Given the description of an element on the screen output the (x, y) to click on. 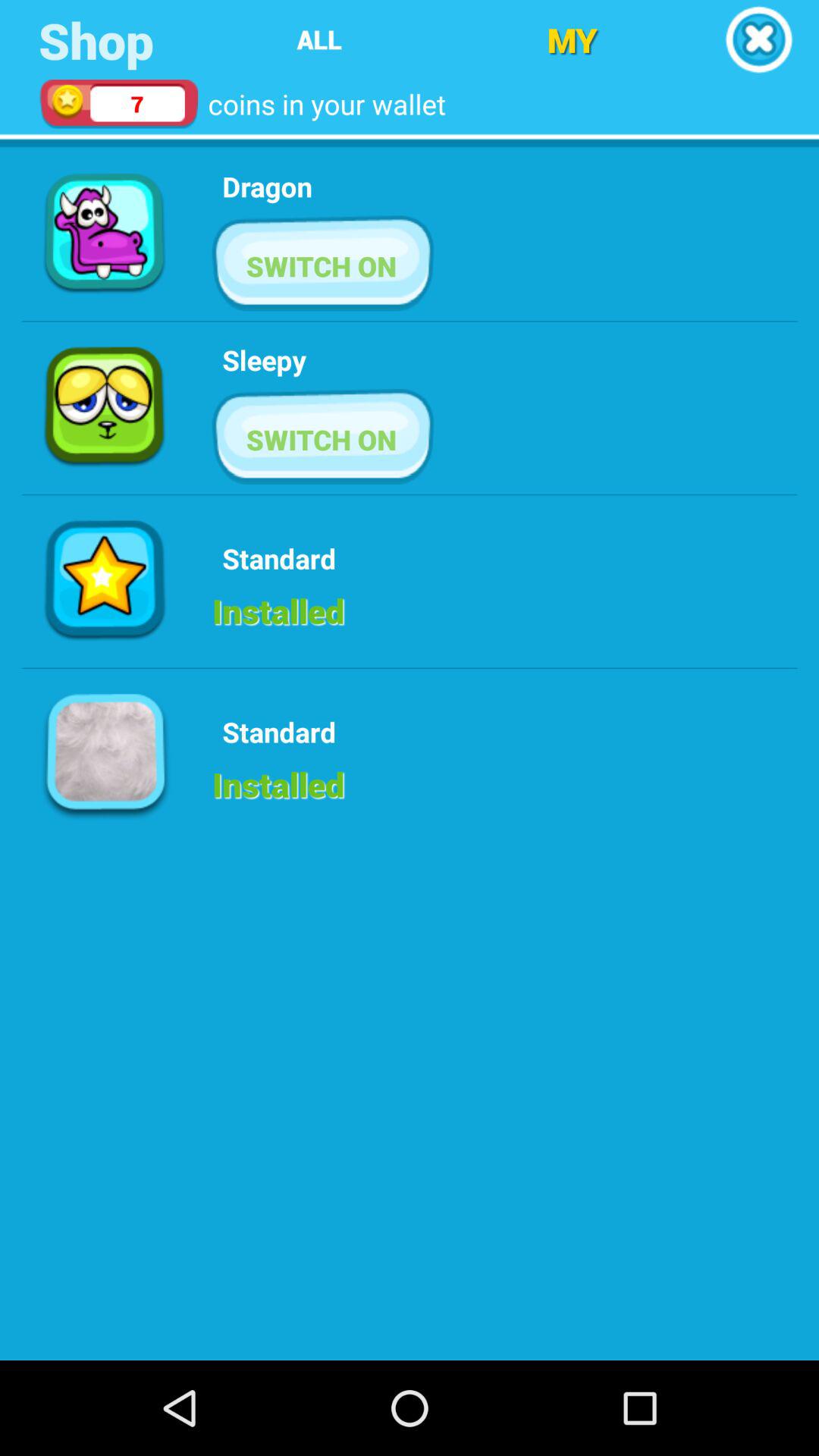
turn on icon next to the coins in your item (572, 39)
